Given the description of an element on the screen output the (x, y) to click on. 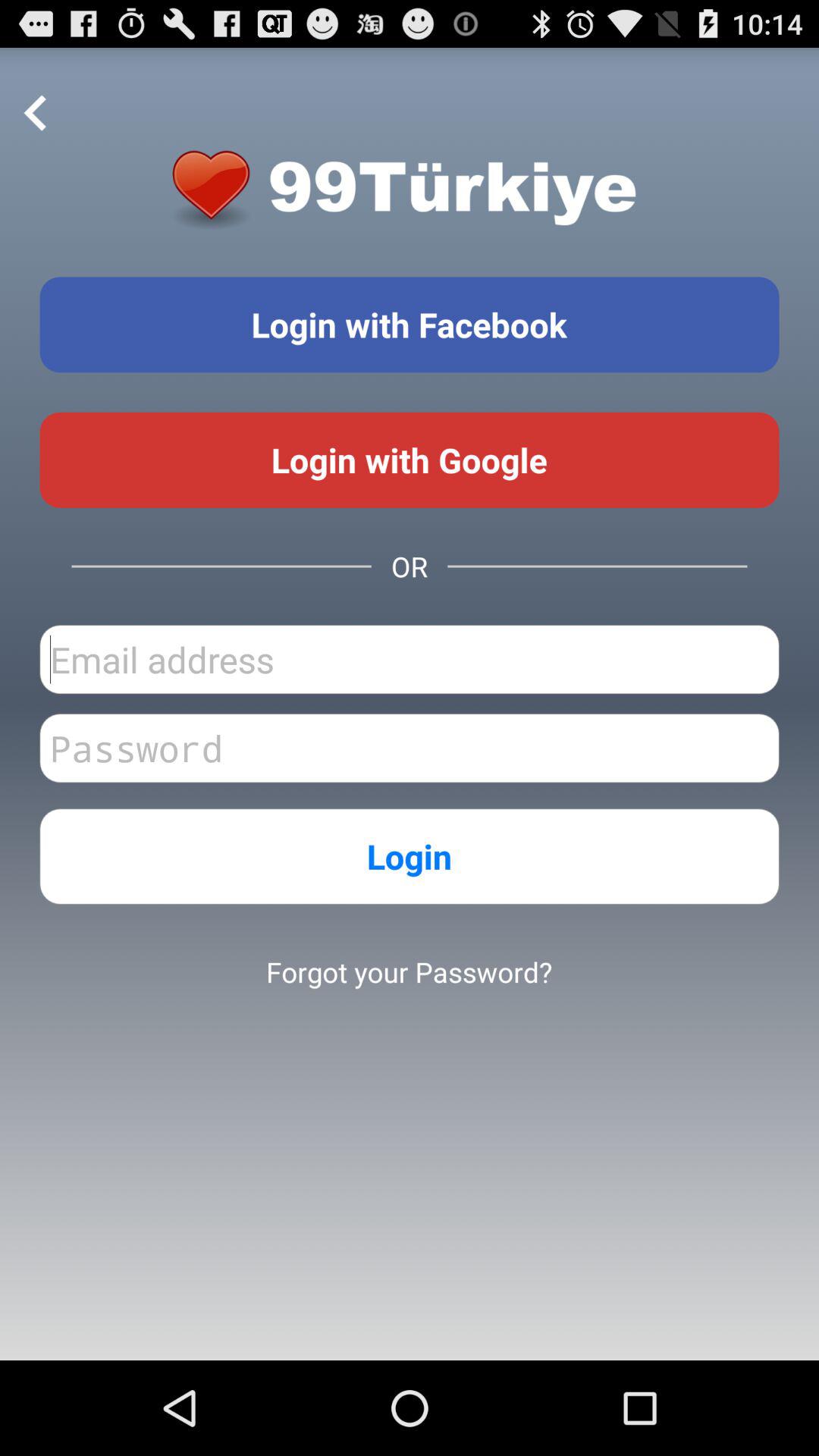
go back (35, 113)
